Given the description of an element on the screen output the (x, y) to click on. 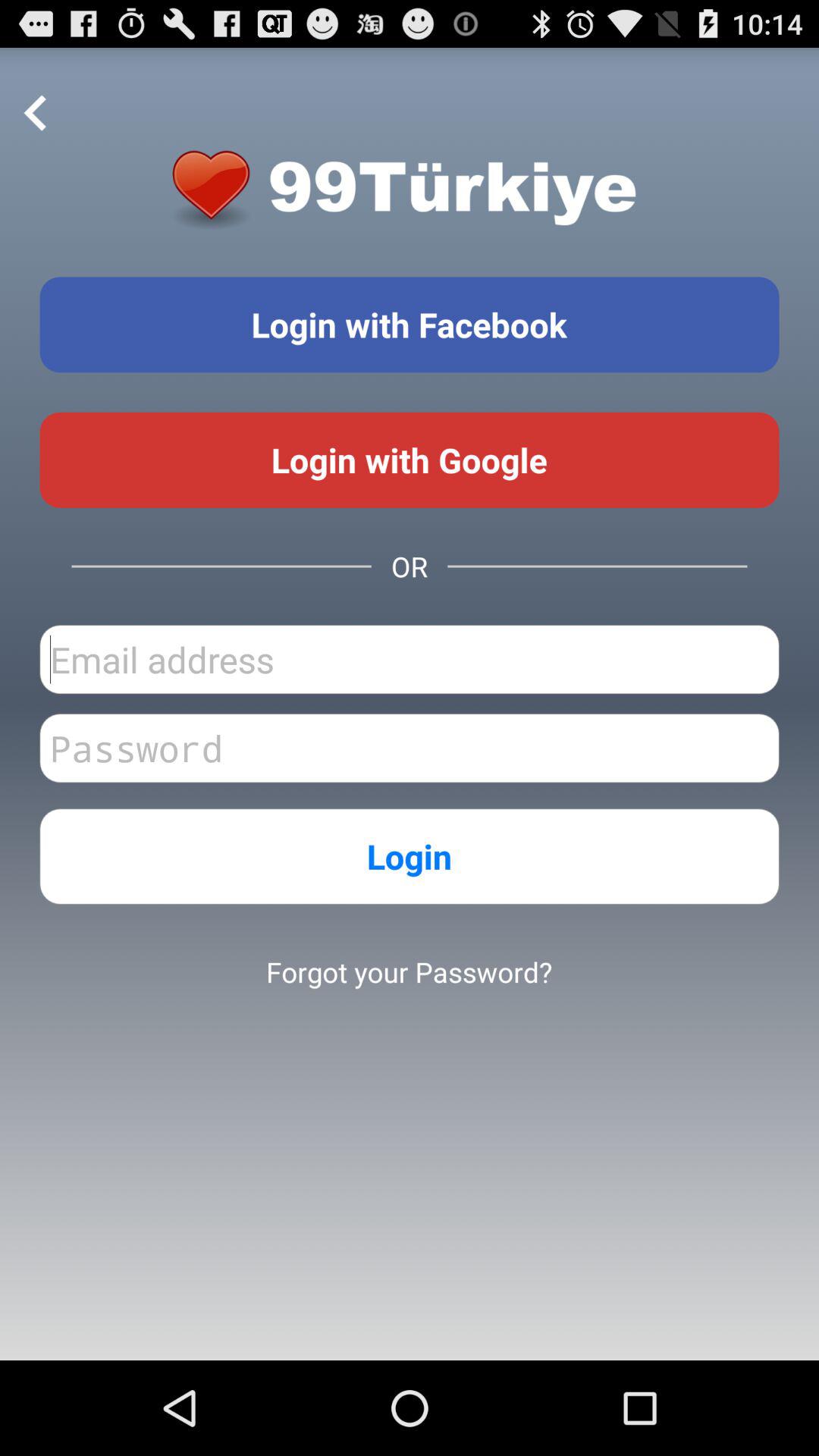
go back (35, 113)
